Given the description of an element on the screen output the (x, y) to click on. 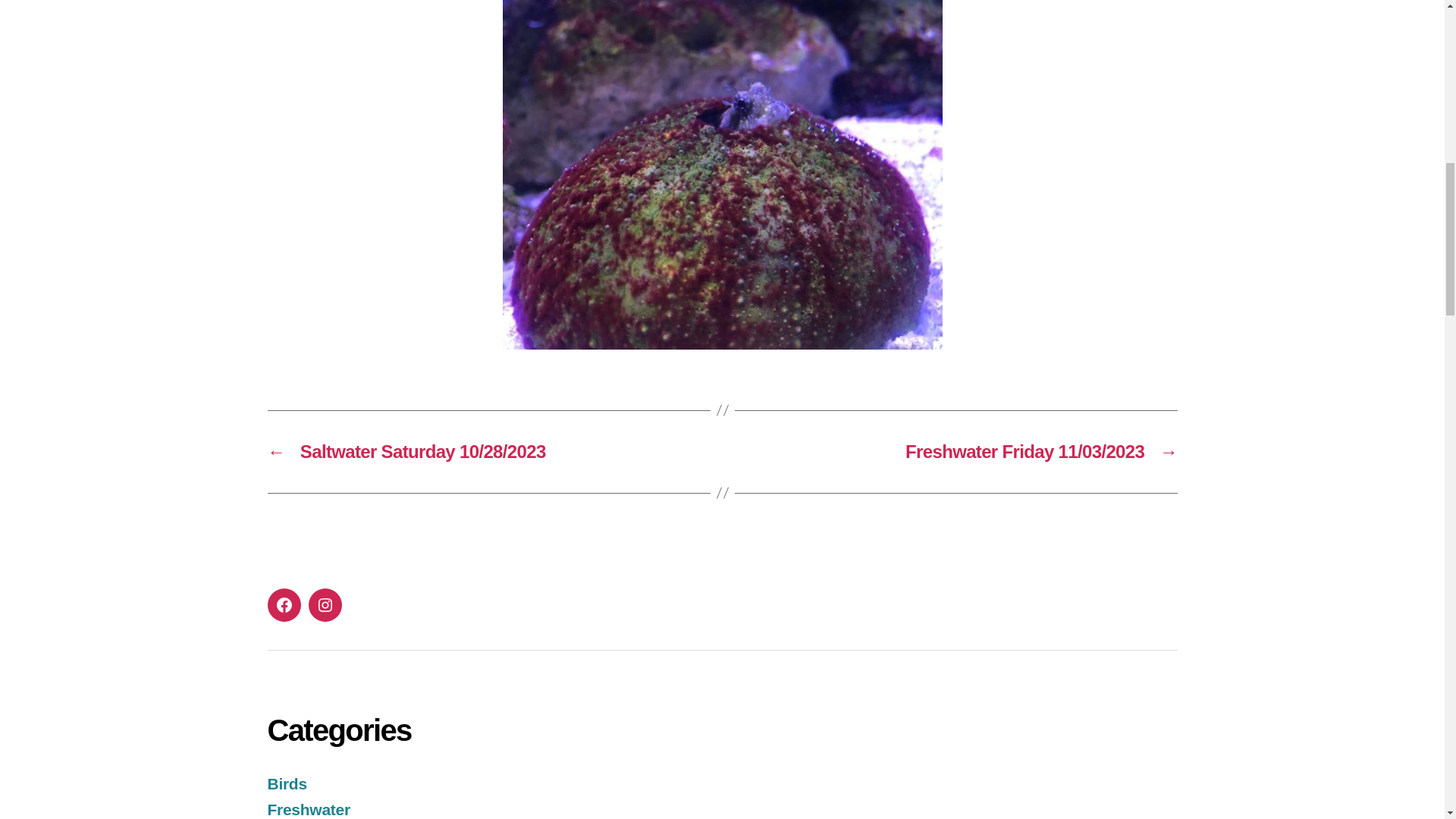
Instagram (323, 604)
Find us on Facebook (282, 604)
Facebook (282, 604)
Instagram (323, 604)
Birds (285, 783)
Freshwater (307, 809)
